Given the description of an element on the screen output the (x, y) to click on. 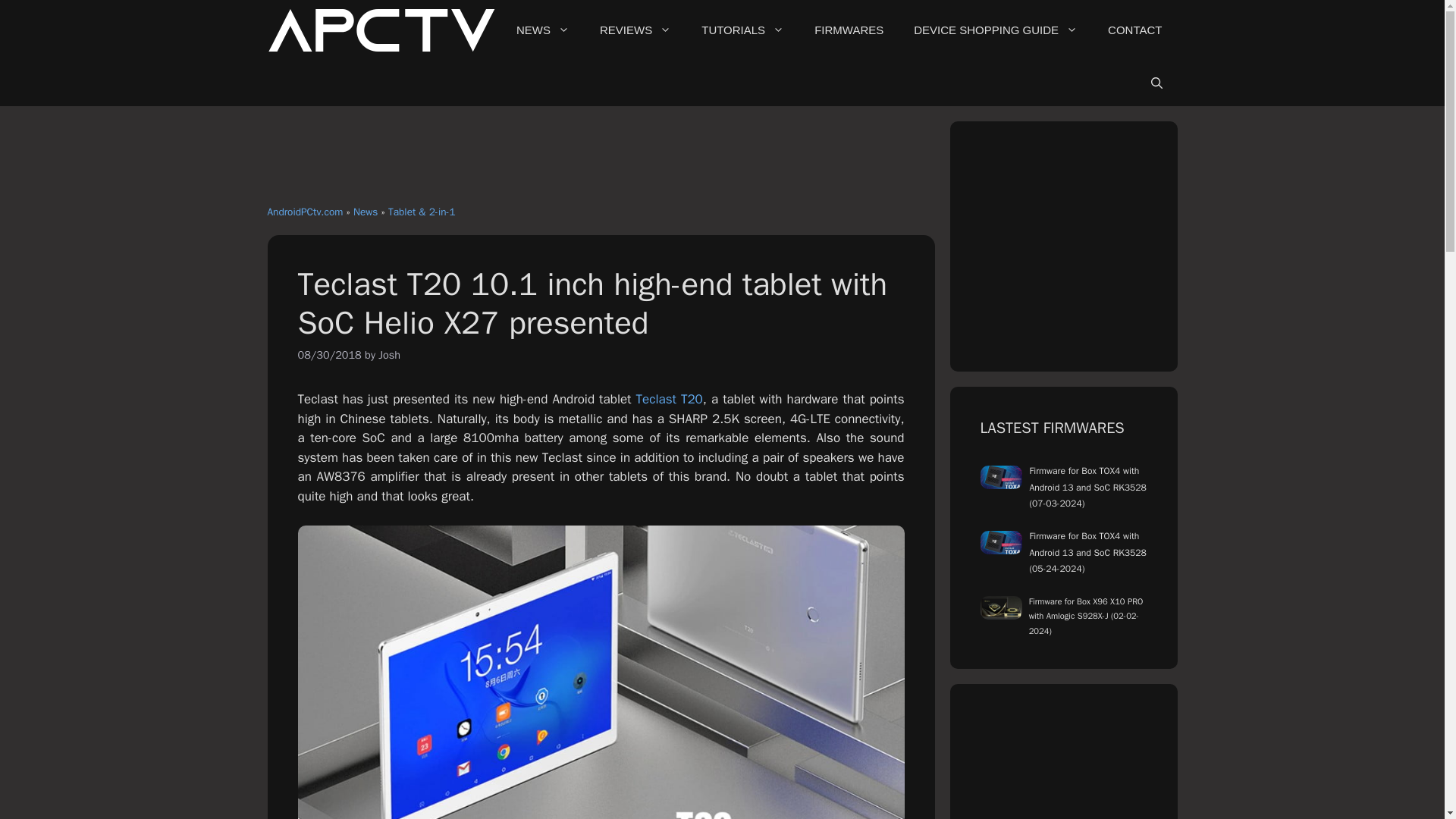
View all posts by Josh (389, 354)
AndroidPCtv (380, 30)
